Given the description of an element on the screen output the (x, y) to click on. 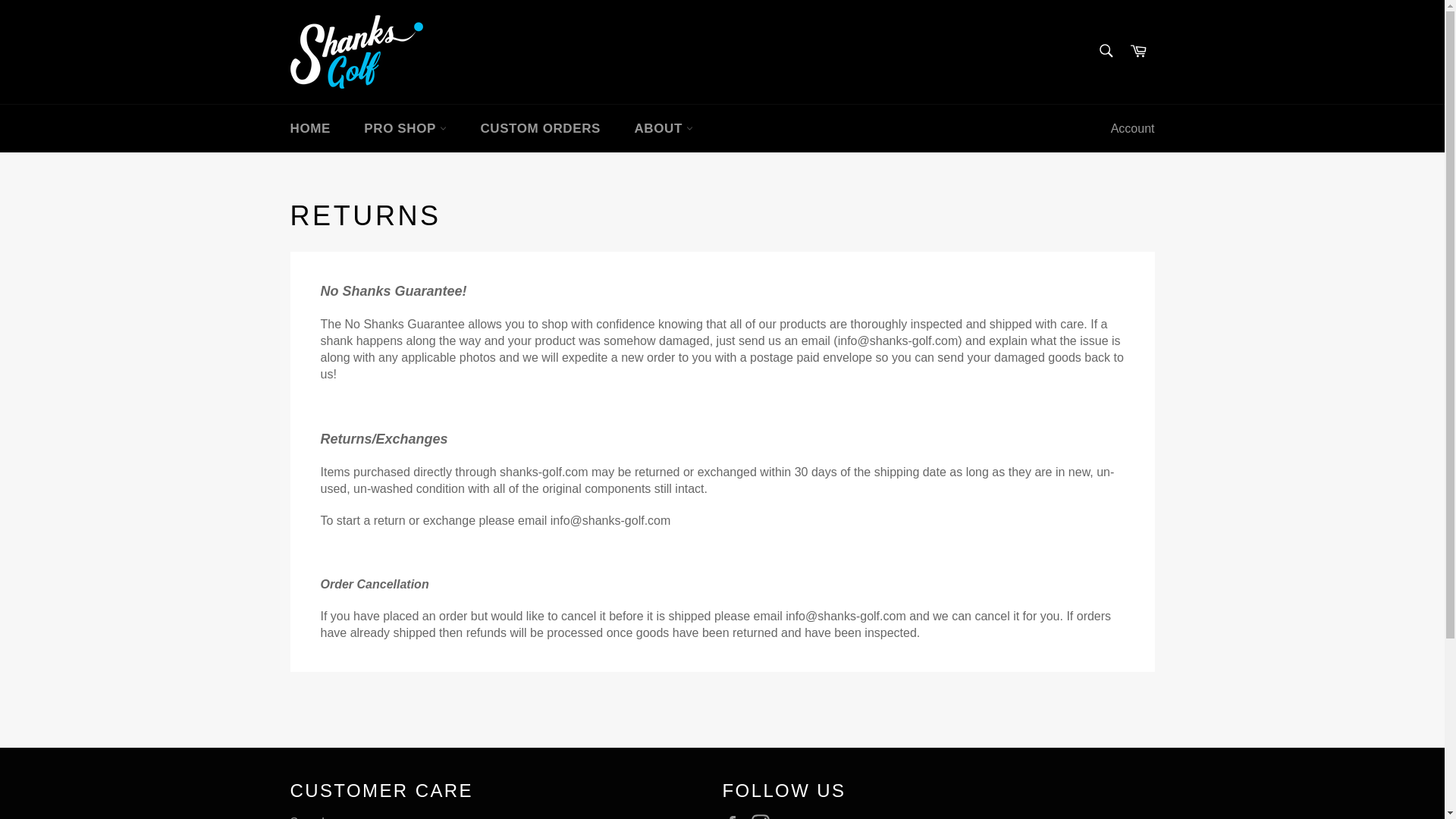
HOME (310, 128)
Shanks Golf on Instagram (764, 816)
PRO SHOP (405, 128)
Shanks Golf on Facebook (735, 816)
Account (1132, 128)
Cart (1138, 51)
ABOUT (662, 128)
Search (1104, 50)
CUSTOM ORDERS (539, 128)
